Given the description of an element on the screen output the (x, y) to click on. 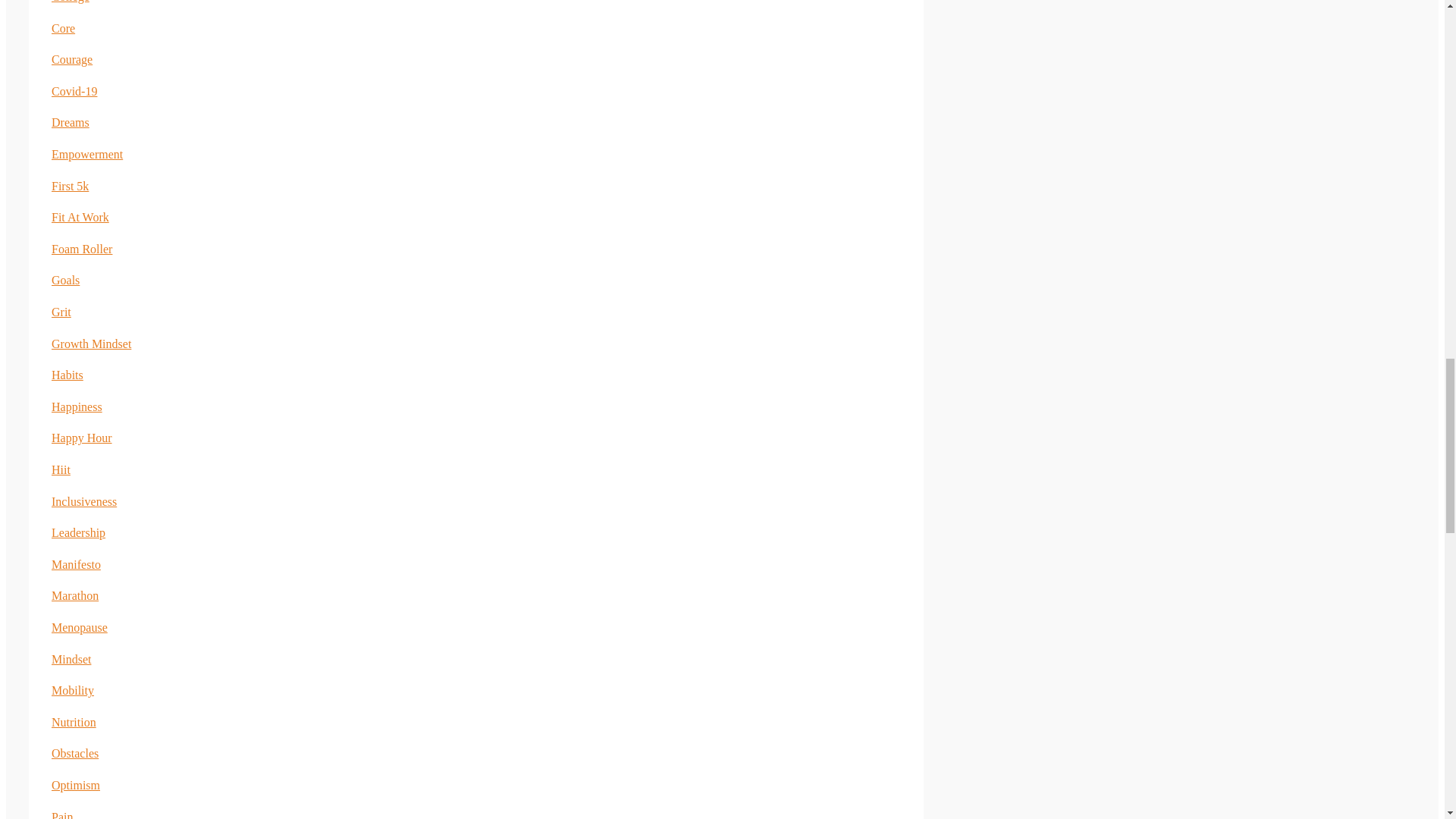
Courage (71, 59)
Dreams (69, 122)
Core (62, 28)
College (69, 1)
Empowerment (86, 154)
Covid-19 (73, 91)
First 5k (69, 185)
